Given the description of an element on the screen output the (x, y) to click on. 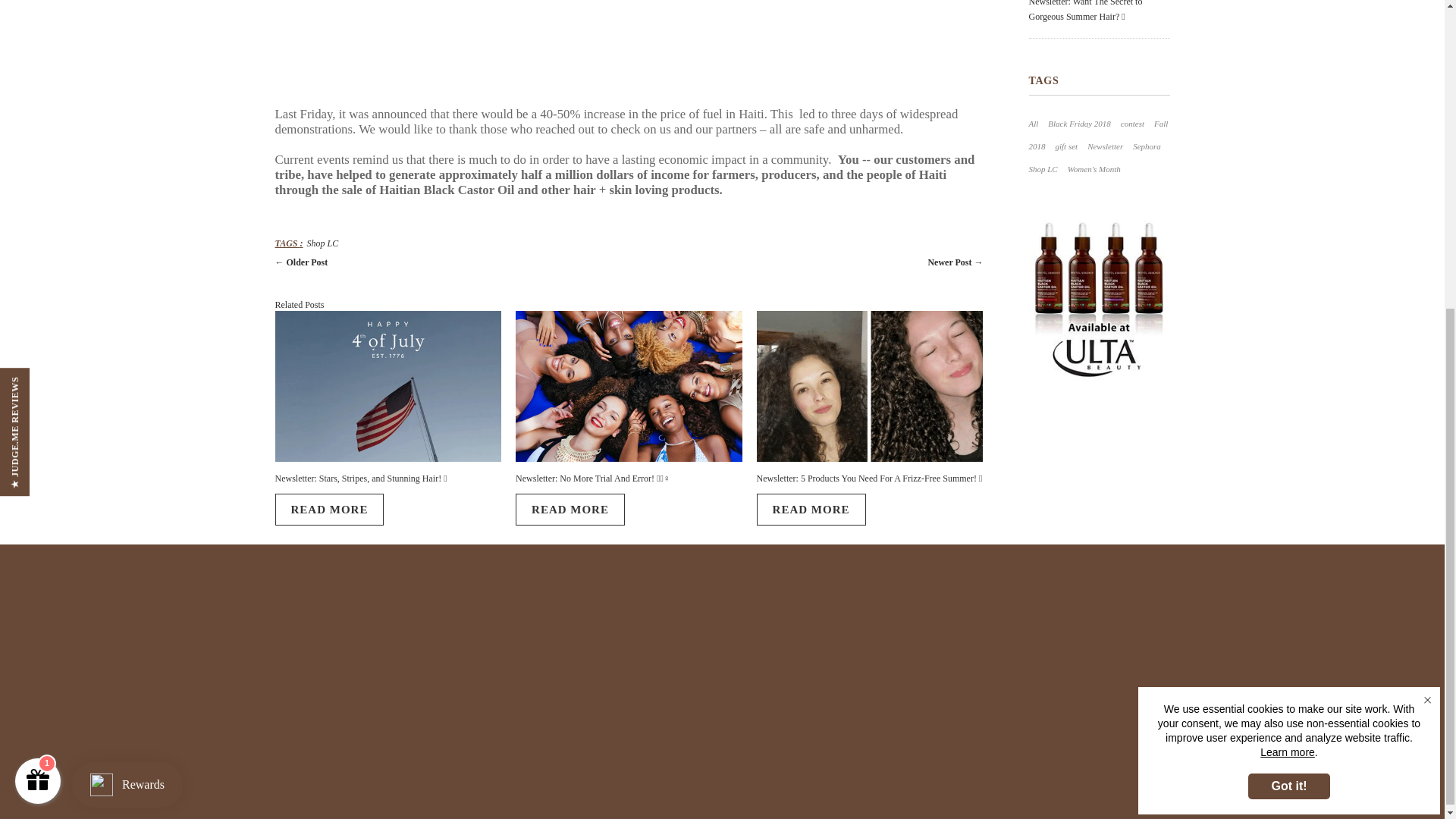
Show articles tagged gift set (1066, 145)
Show articles tagged Women's Month (1094, 168)
Show articles tagged Fall 2018 (1097, 134)
Show articles tagged Shop LC (1042, 168)
Show articles tagged Newsletter (1104, 145)
Show articles tagged Black Friday 2018 (1078, 122)
Show articles tagged contest (1132, 122)
1 (37, 289)
Show articles tagged Sephora (1146, 145)
